Given the description of an element on the screen output the (x, y) to click on. 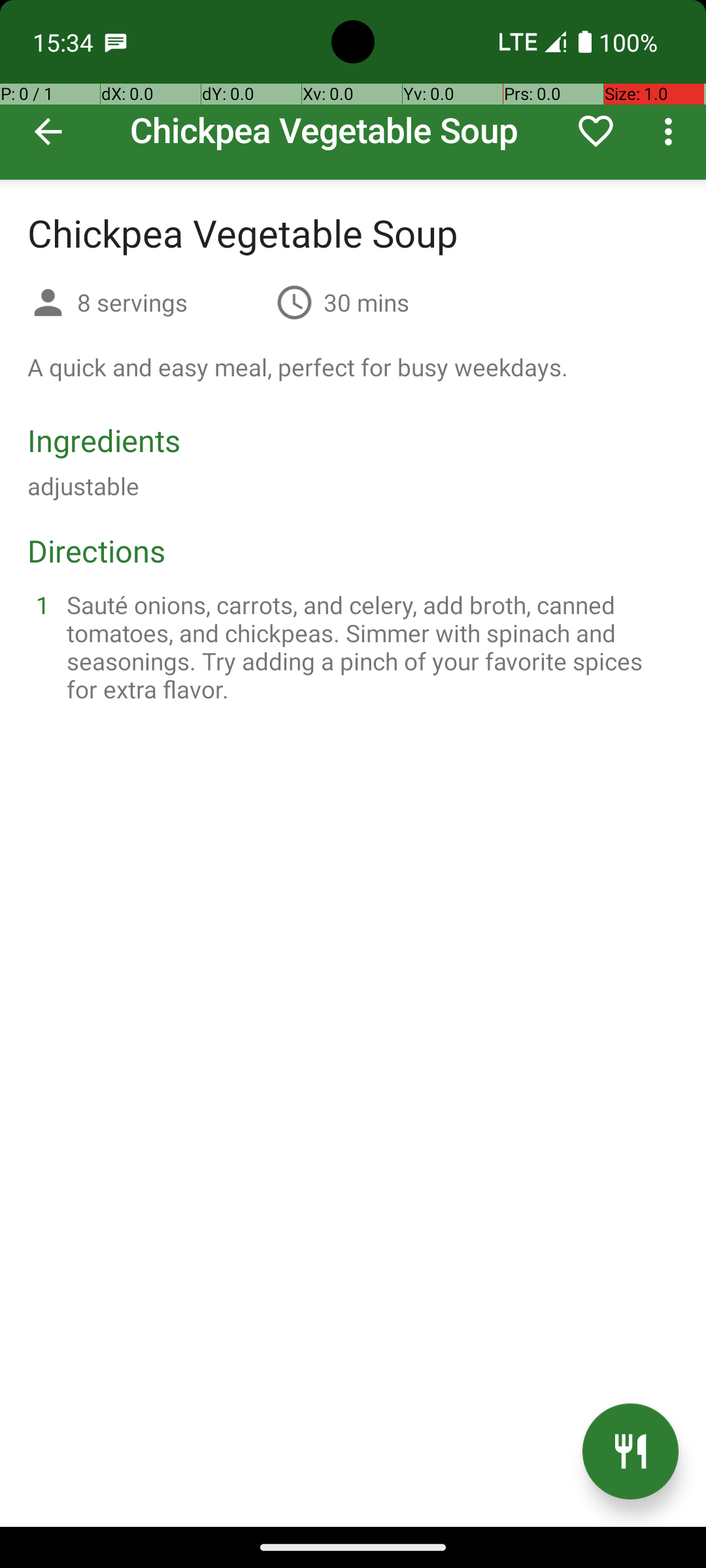
Sauté onions, carrots, and celery, add broth, canned tomatoes, and chickpeas. Simmer with spinach and seasonings. Try adding a pinch of your favorite spices for extra flavor. Element type: android.widget.TextView (368, 646)
